Given the description of an element on the screen output the (x, y) to click on. 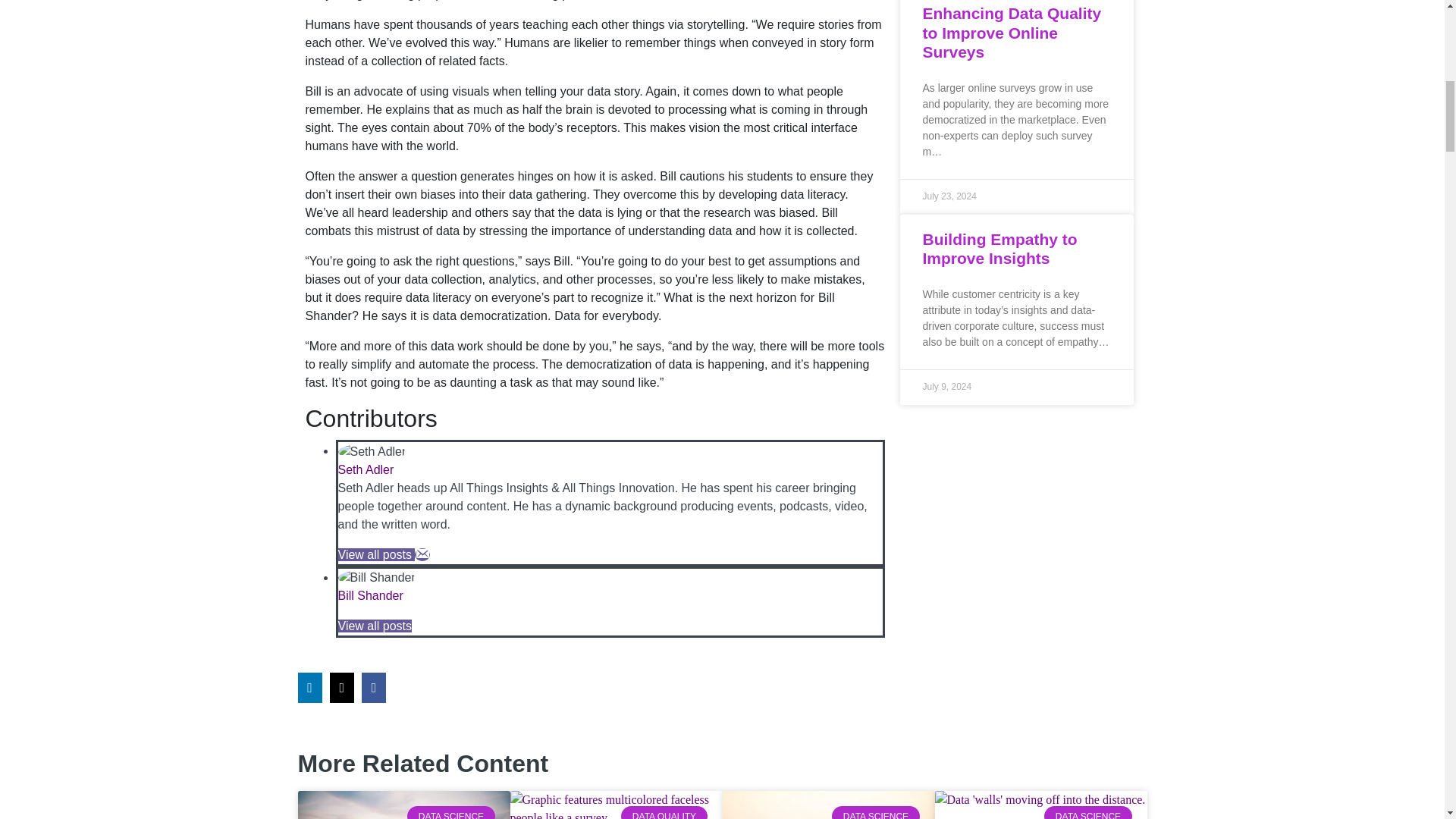
Bill Shander (370, 594)
Seth Adler (365, 469)
View all posts (374, 625)
Seth Adler (365, 469)
View all posts (375, 554)
View all posts (375, 554)
